Given the description of an element on the screen output the (x, y) to click on. 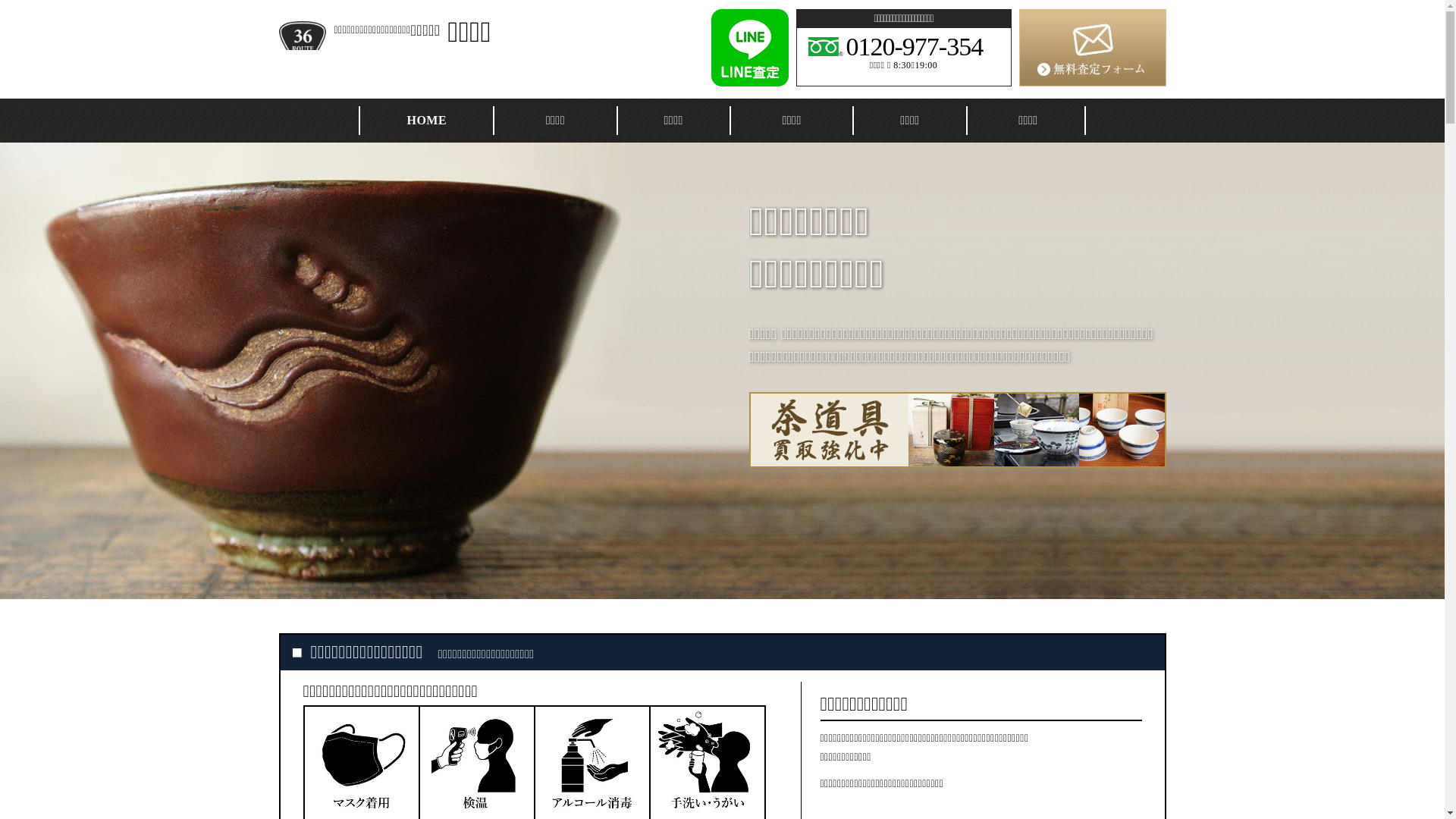
HOME Element type: text (426, 119)
